Given the description of an element on the screen output the (x, y) to click on. 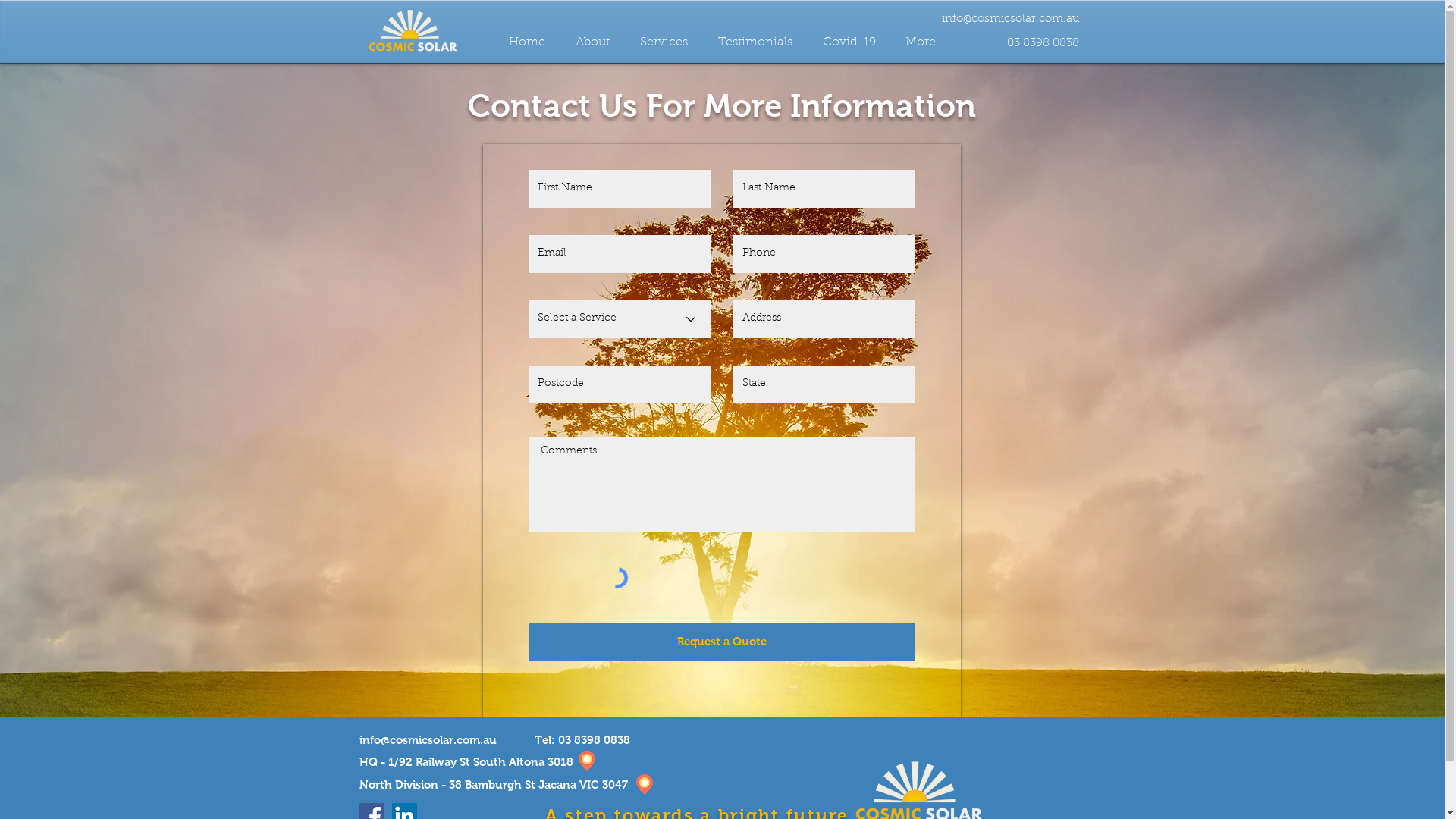
info@cosmicsolar.com.au Element type: text (1010, 17)
Home Element type: text (525, 42)
Request a Quote Element type: text (720, 641)
HQ - 1/92 Railway St South Altona 3018 Element type: text (466, 761)
Services Element type: text (663, 42)
Testimonials Element type: text (754, 42)
info@cosmicsolar.com.au Element type: text (427, 739)
Covid-19 Element type: text (848, 42)
GET A FREE QUOTE Element type: text (722, 495)
North Division - 38 Bamburgh St Jacana VIC 3047 Element type: text (493, 784)
About Element type: text (591, 42)
